Given the description of an element on the screen output the (x, y) to click on. 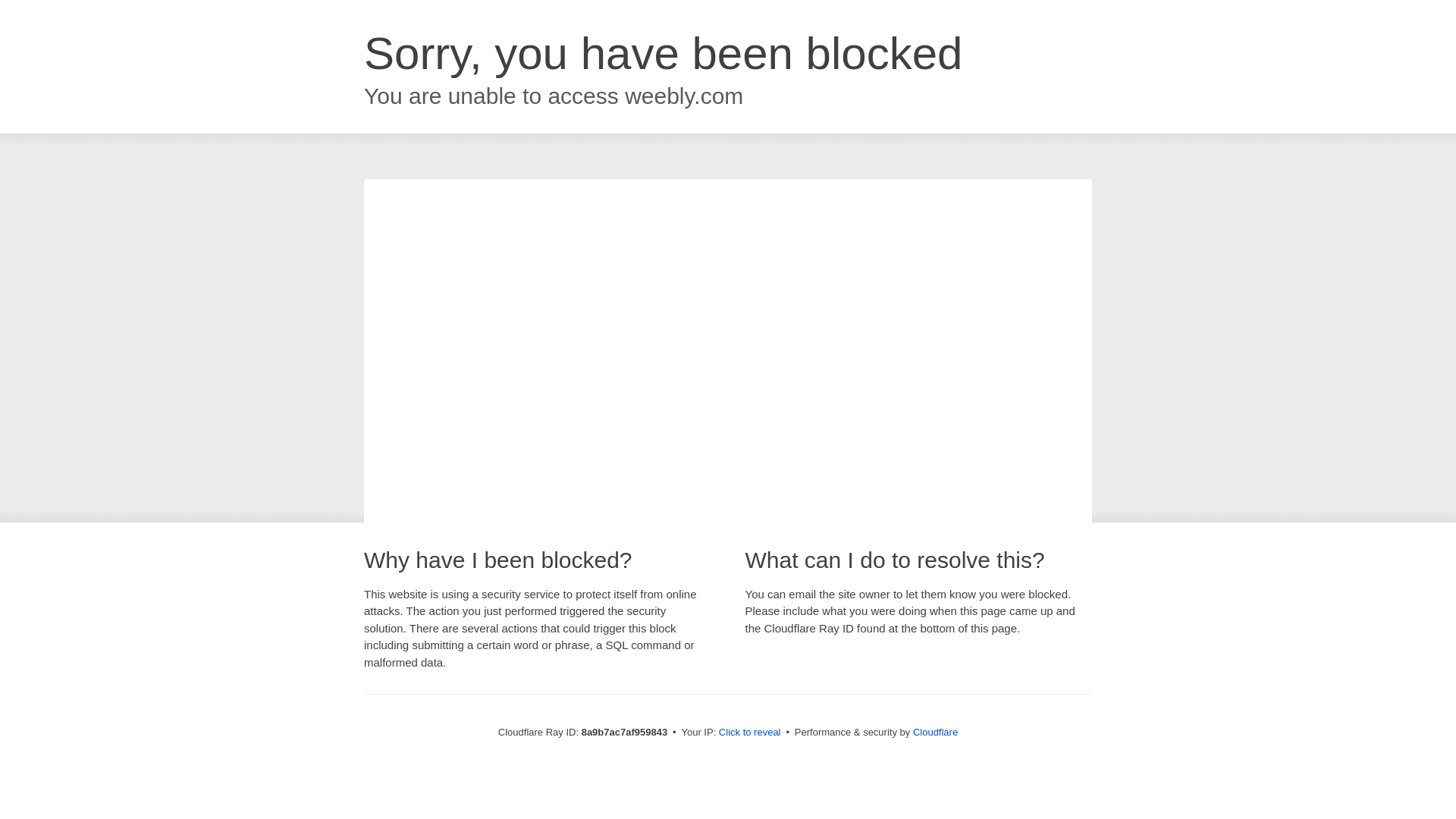
Cloudflare (935, 731)
Click to reveal (749, 732)
